Given the description of an element on the screen output the (x, y) to click on. 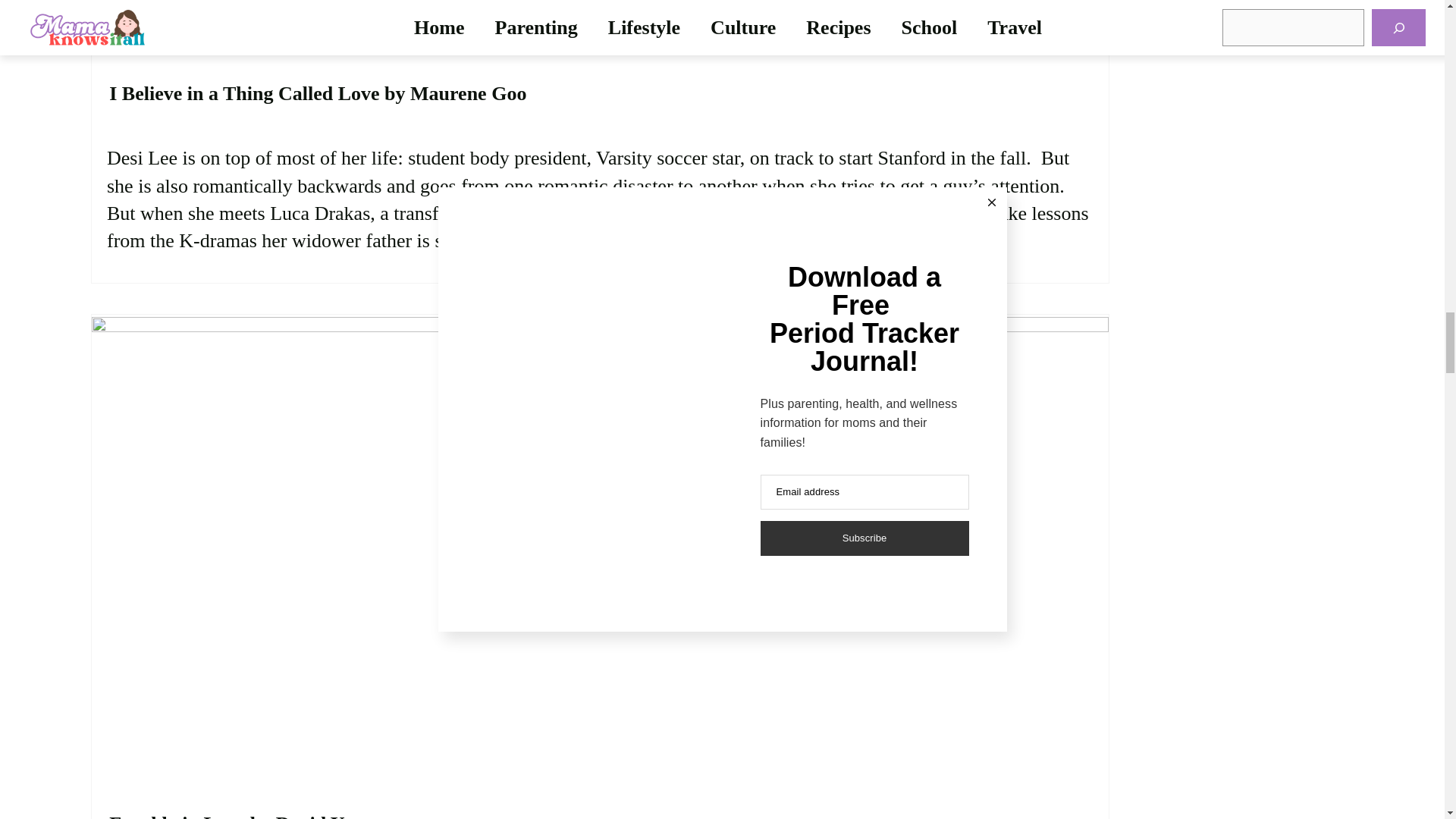
Frankly in Love by David Yoo (235, 814)
I Believe in a Thing Called Love by Maurene Goo (317, 93)
